Given the description of an element on the screen output the (x, y) to click on. 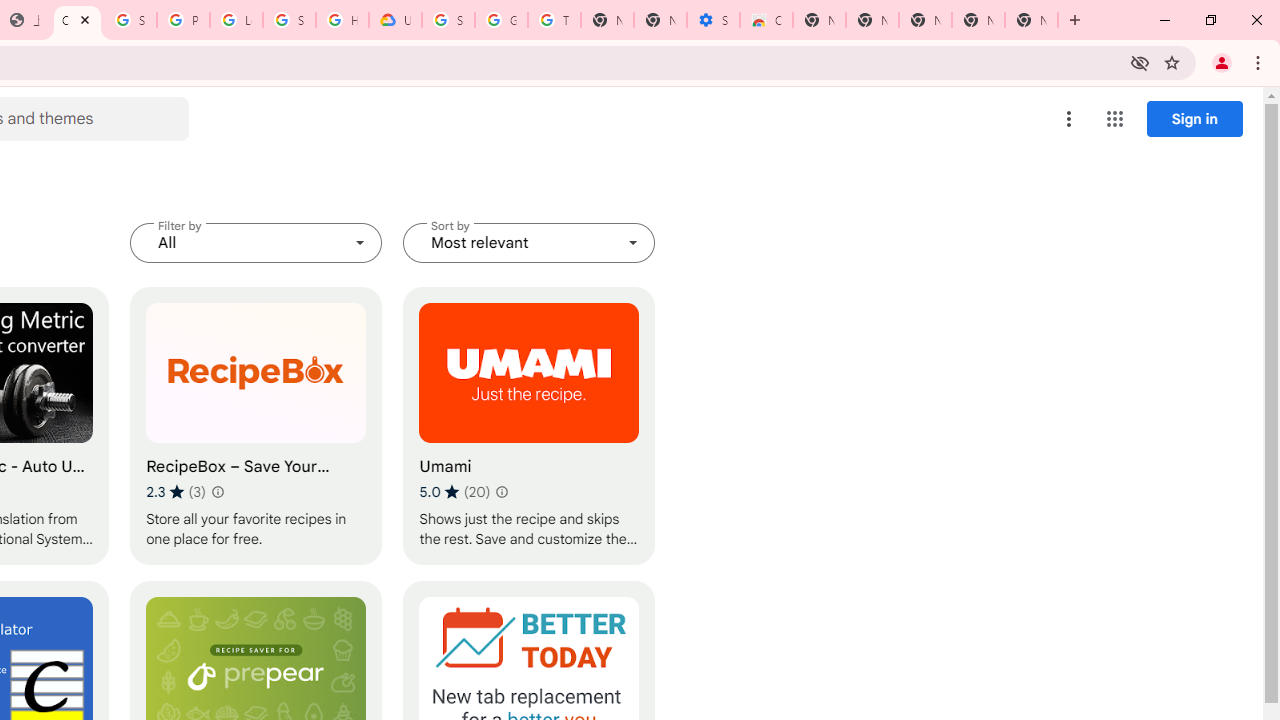
More options menu (1069, 118)
Filter by All (256, 242)
Chrome Web Store - Household (77, 20)
Average rating 5 out of 5 stars. 20 ratings. (454, 491)
Chrome Web Store - Accessibility extensions (766, 20)
New Tab (819, 20)
New Tab (1031, 20)
Umami (529, 426)
Turn cookies on or off - Computer - Google Account Help (554, 20)
